Given the description of an element on the screen output the (x, y) to click on. 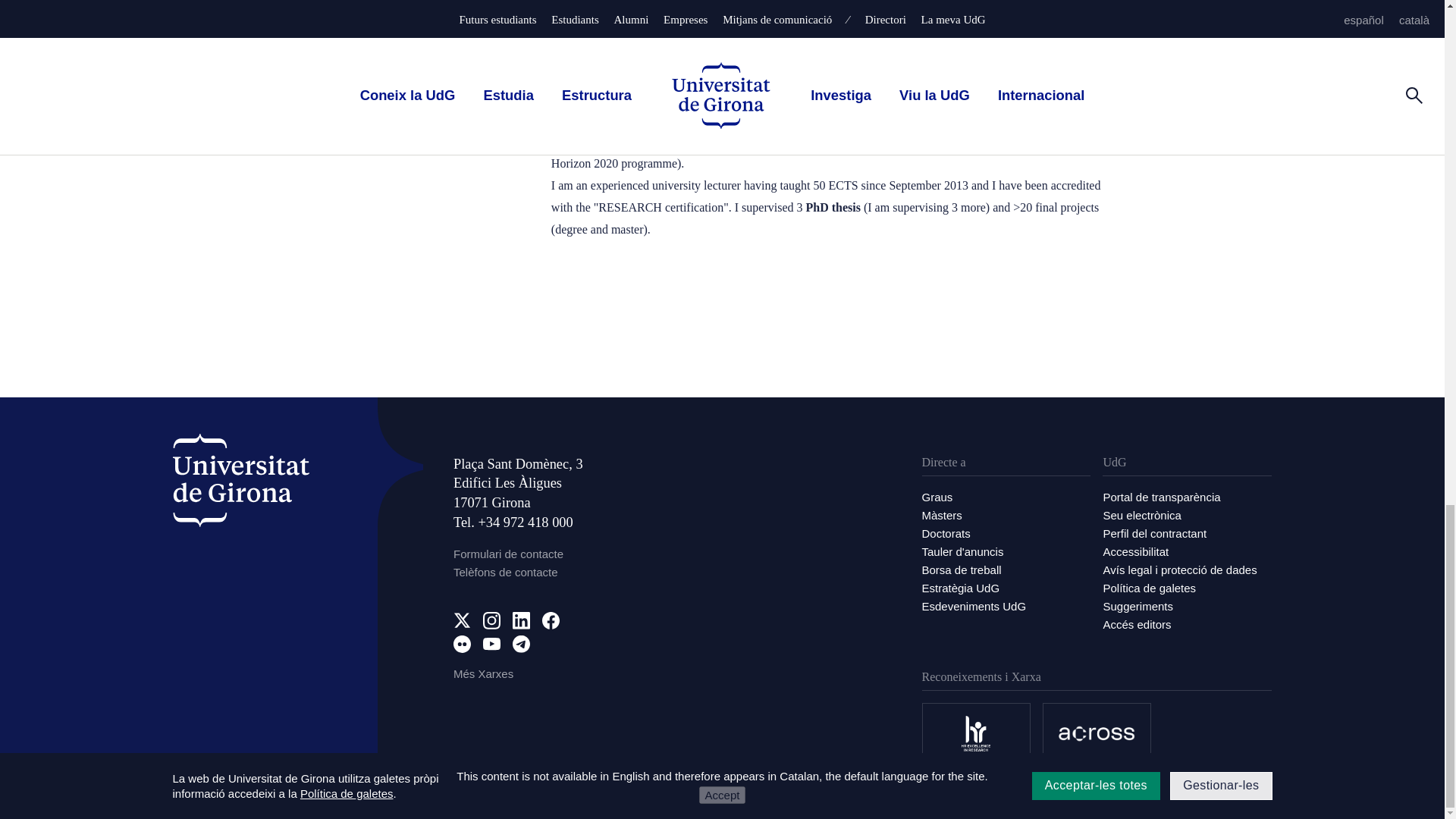
Perfil de Facebook de la UdG (550, 620)
Perfil d'instagram de la UdG (491, 620)
Perfil de X de la UdG (461, 620)
Perfil de Telegram de la UdG (520, 643)
Perfil de linkedin de la UdG (520, 620)
Perfil de Youtube de la UdG (491, 643)
Perfil de Flickr de la UdG (461, 643)
Universitat de Girona (240, 480)
